Given the description of an element on the screen output the (x, y) to click on. 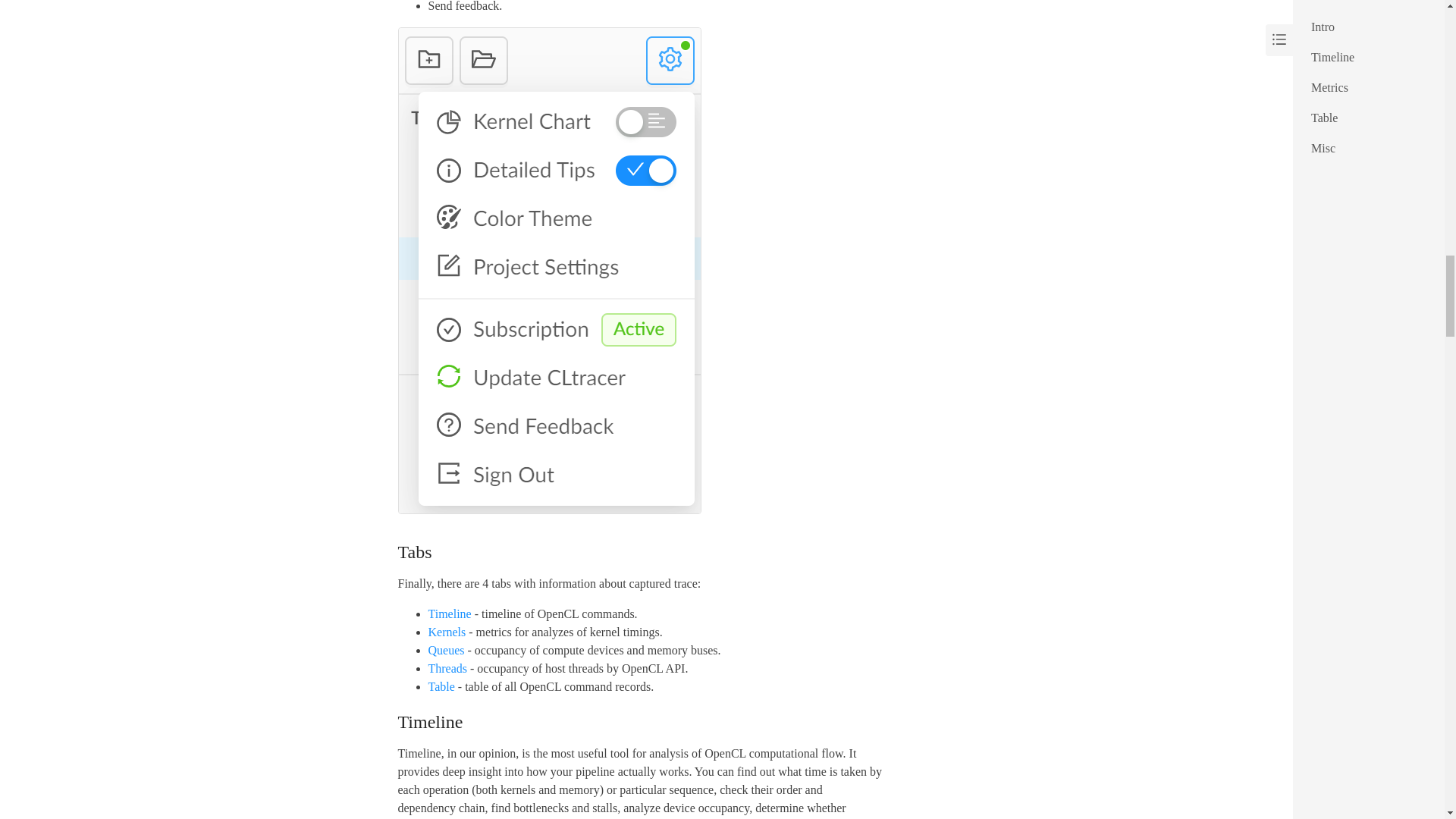
Timeline (449, 613)
Kernels (446, 631)
Queues (446, 649)
Threads (447, 667)
Table (441, 686)
